Given the description of an element on the screen output the (x, y) to click on. 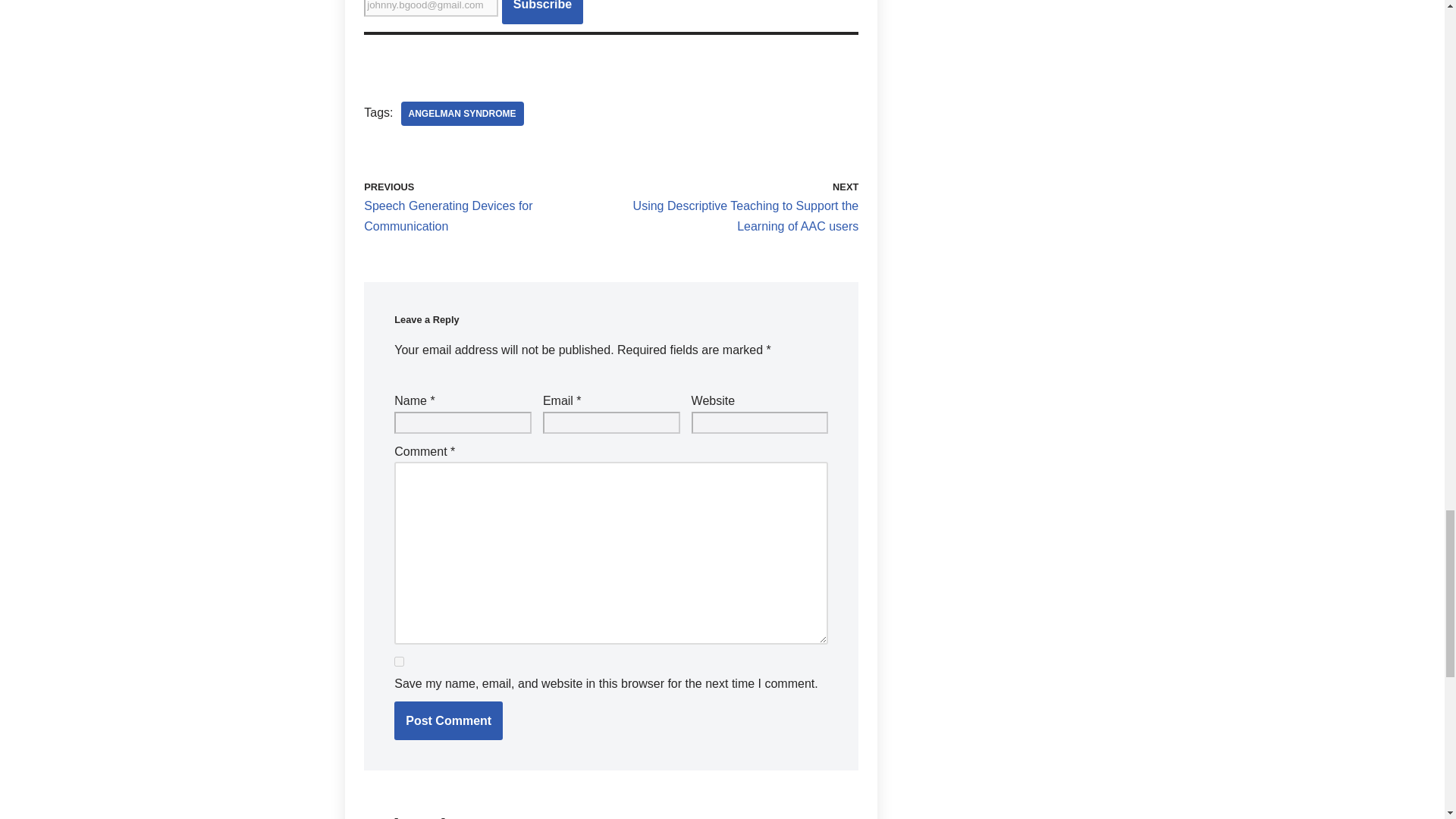
Angelman Syndrome (461, 113)
yes (399, 661)
Post Comment (448, 721)
Subscribe (542, 12)
